Given the description of an element on the screen output the (x, y) to click on. 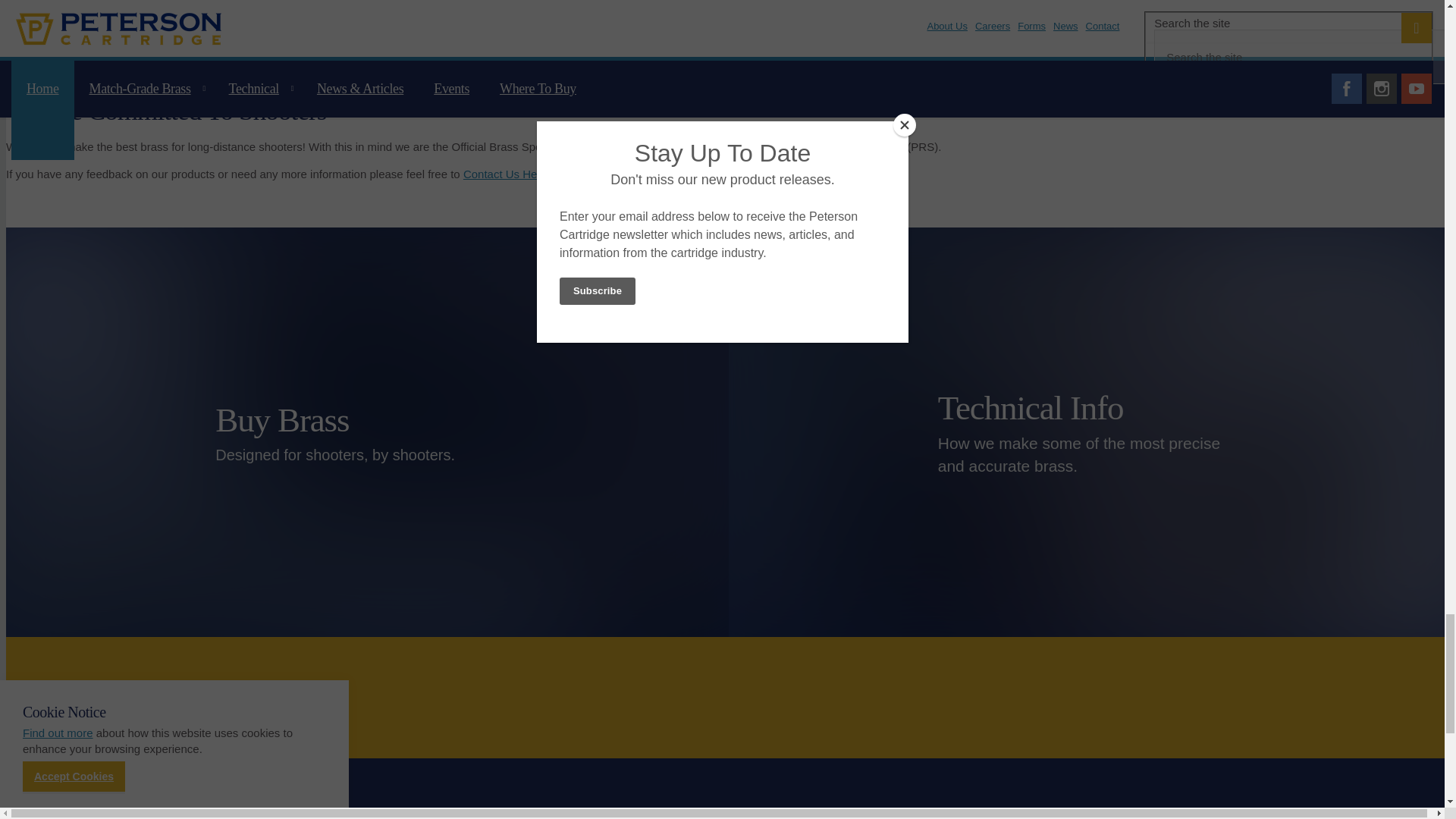
Contact (505, 173)
